Given the description of an element on the screen output the (x, y) to click on. 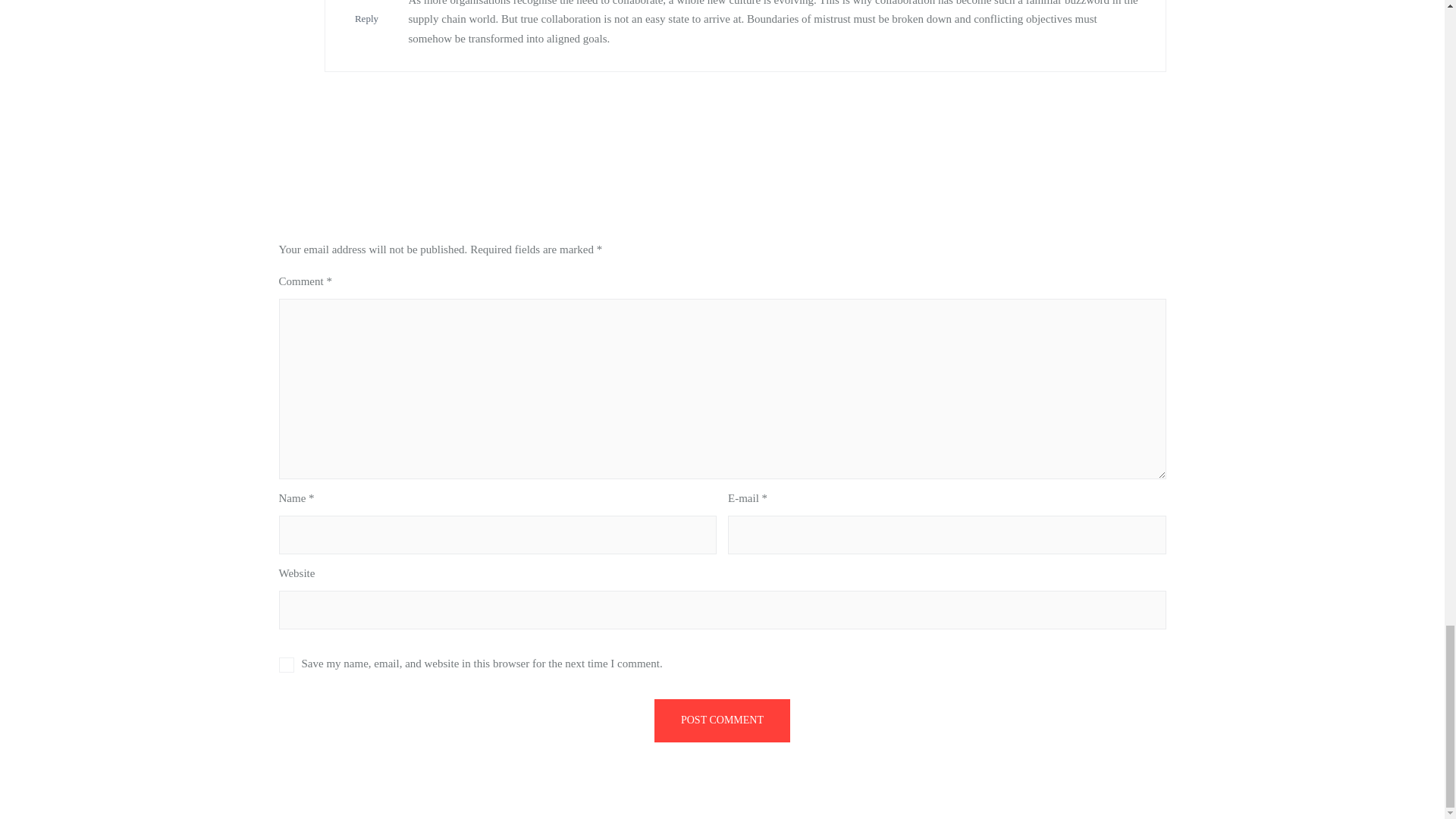
Post Comment (721, 720)
